Given the description of an element on the screen output the (x, y) to click on. 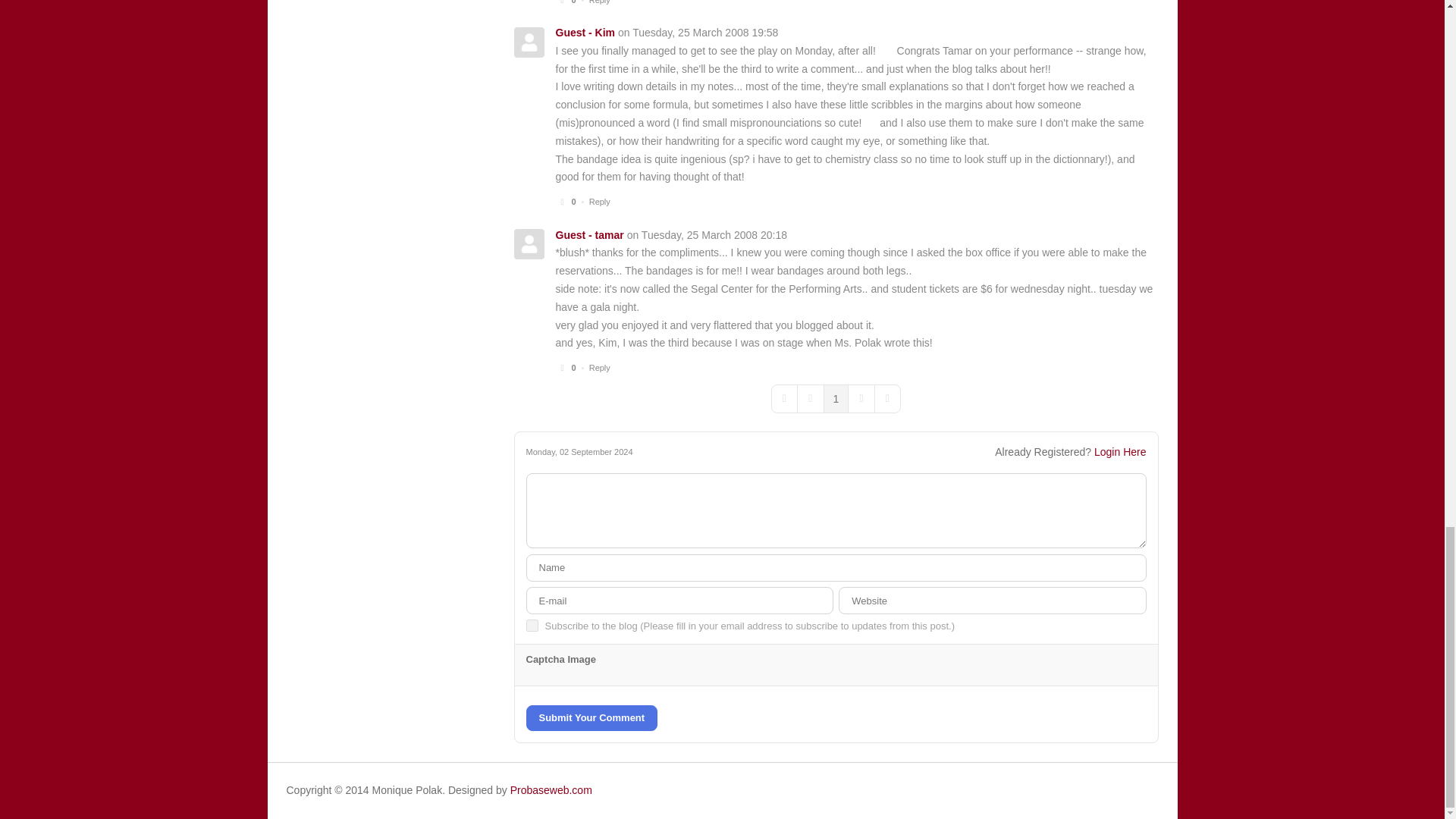
Probaseweb (551, 789)
:D (868, 123)
:D (886, 51)
